Given the description of an element on the screen output the (x, y) to click on. 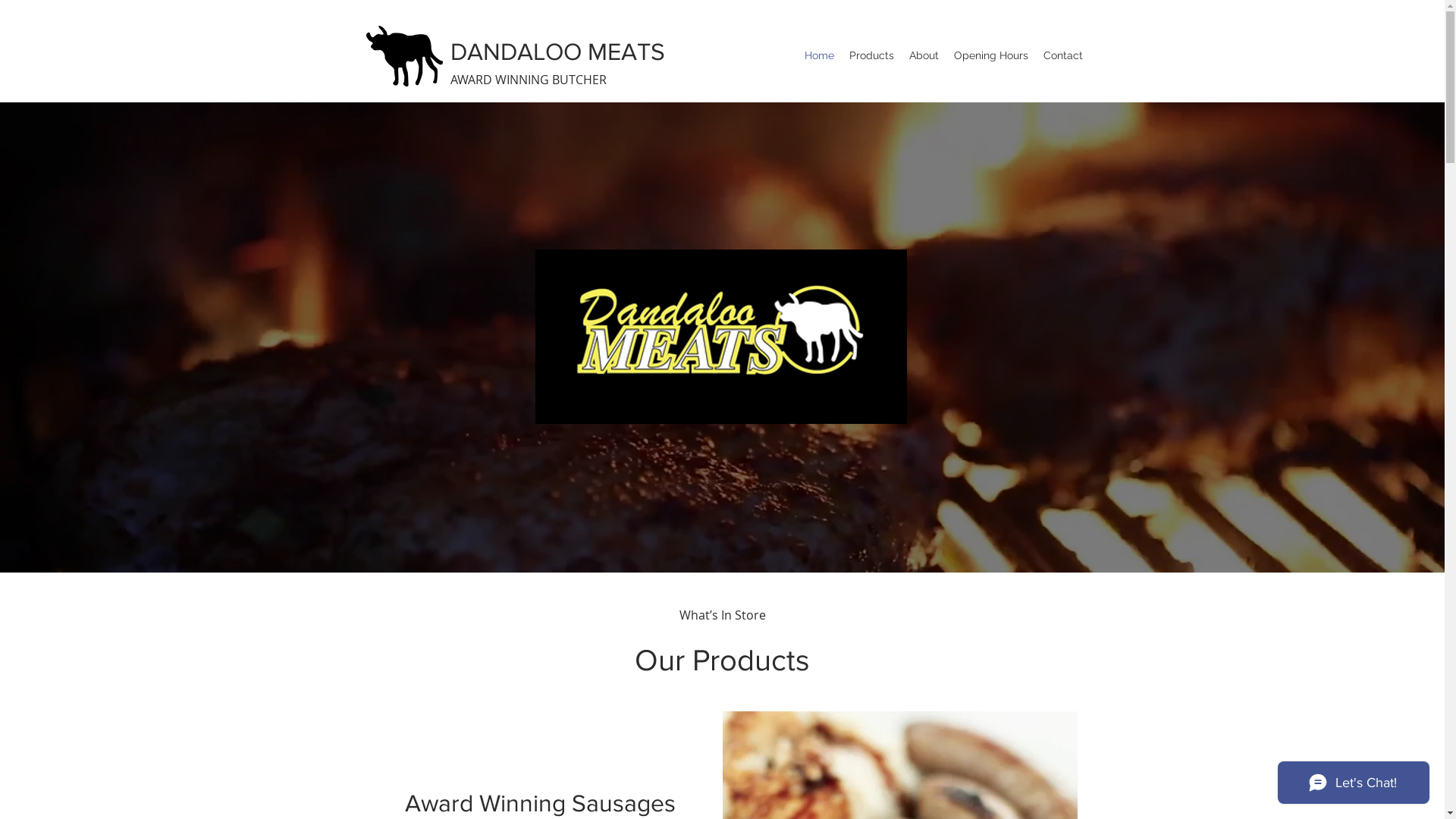
Opening Hours Element type: text (990, 54)
Products Element type: text (871, 54)
Contact Element type: text (1062, 54)
Home Element type: text (818, 54)
About Element type: text (922, 54)
